Given the description of an element on the screen output the (x, y) to click on. 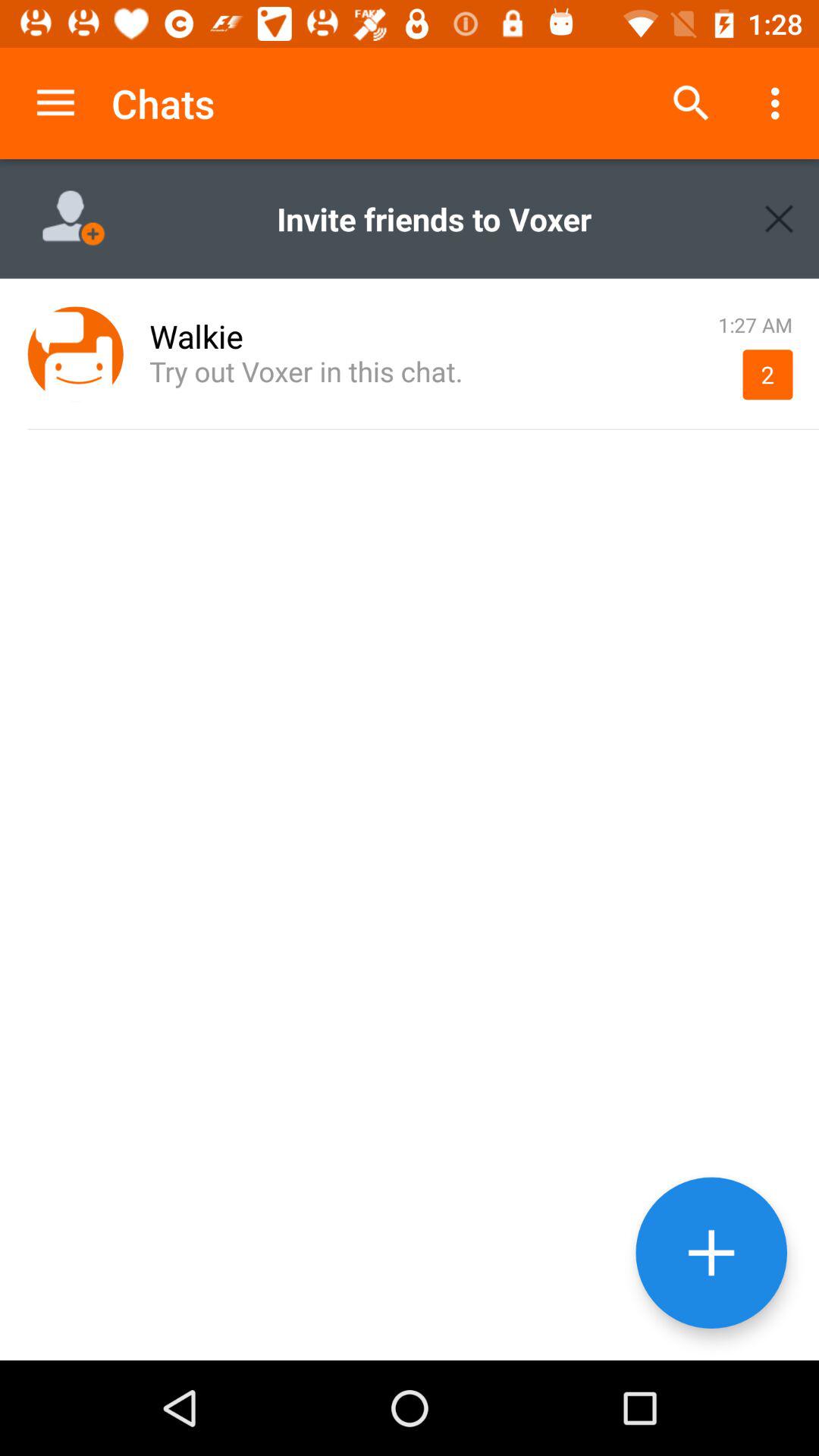
close box top right corner (779, 218)
